Given the description of an element on the screen output the (x, y) to click on. 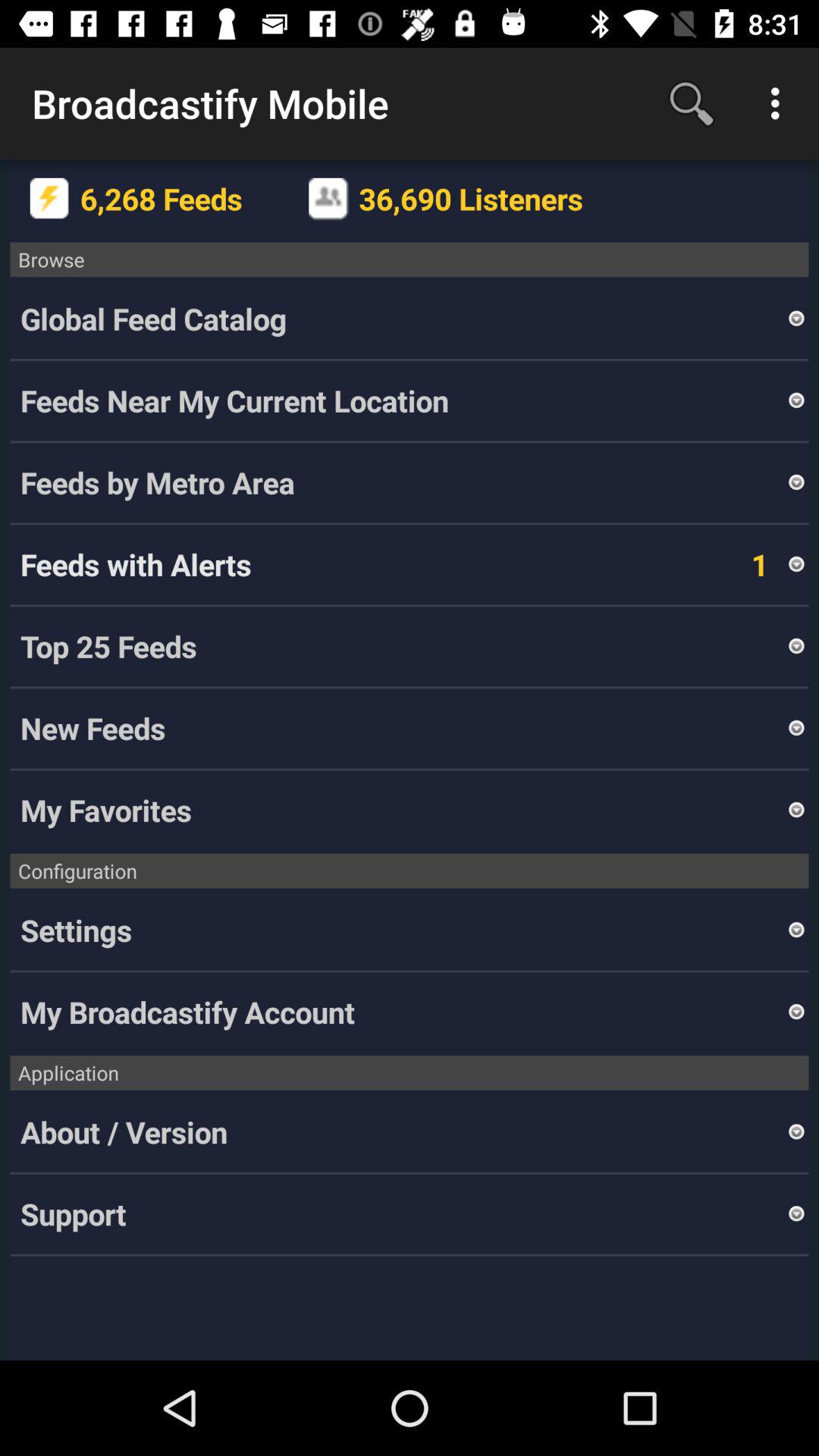
turn off the feeds with alerts on the left (135, 564)
